Given the description of an element on the screen output the (x, y) to click on. 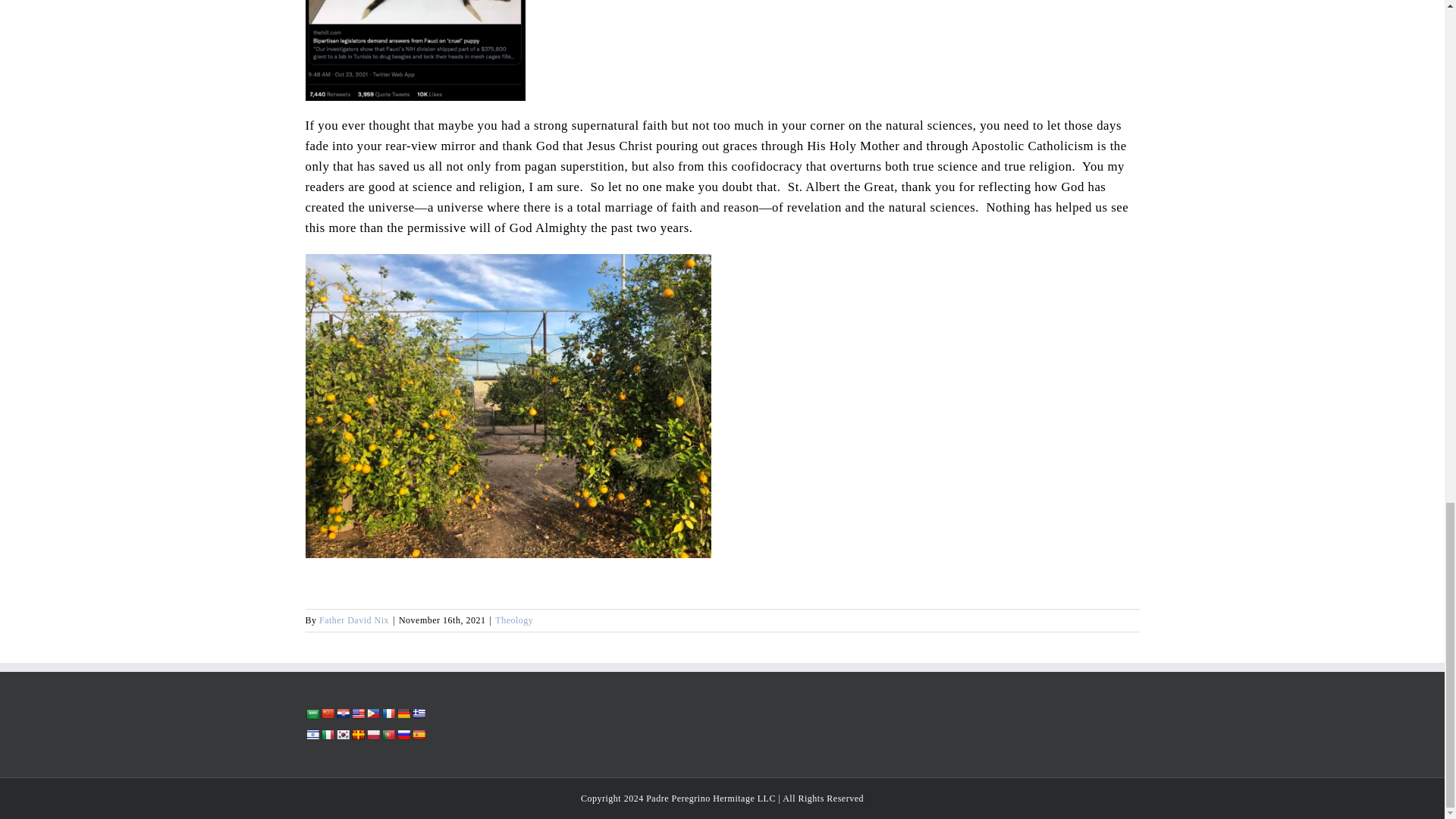
German (402, 713)
Arabic (311, 713)
Italian (326, 734)
Father David Nix (353, 620)
Polish (371, 734)
Hebrew (311, 734)
Croatian (341, 713)
Korean (341, 734)
Filipino (371, 713)
Greek (417, 713)
Posts by Father David Nix (353, 620)
French (387, 713)
English (357, 713)
Theology (513, 620)
Latin (357, 734)
